Given the description of an element on the screen output the (x, y) to click on. 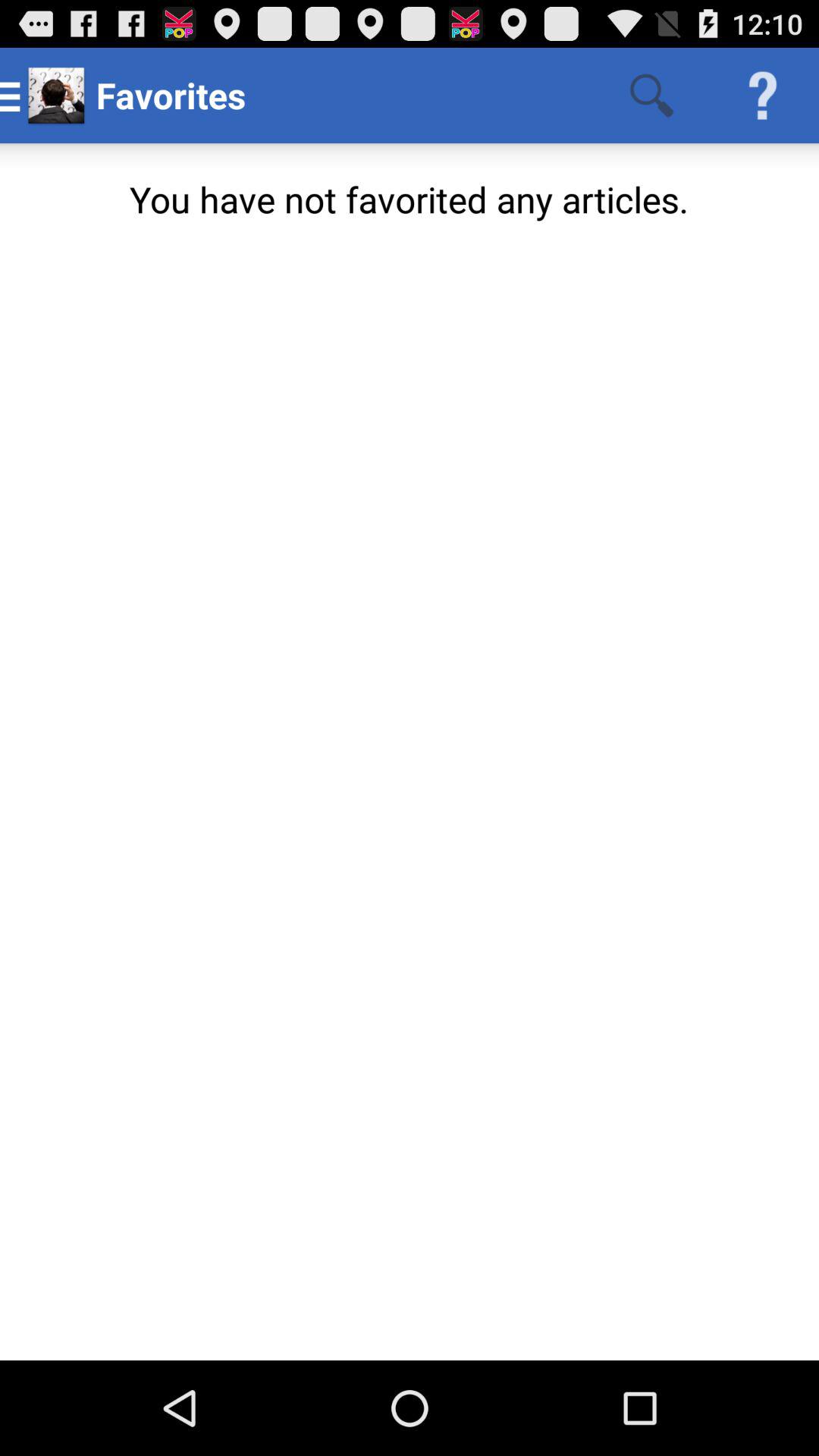
choose the app to the right of favorites icon (651, 95)
